Given the description of an element on the screen output the (x, y) to click on. 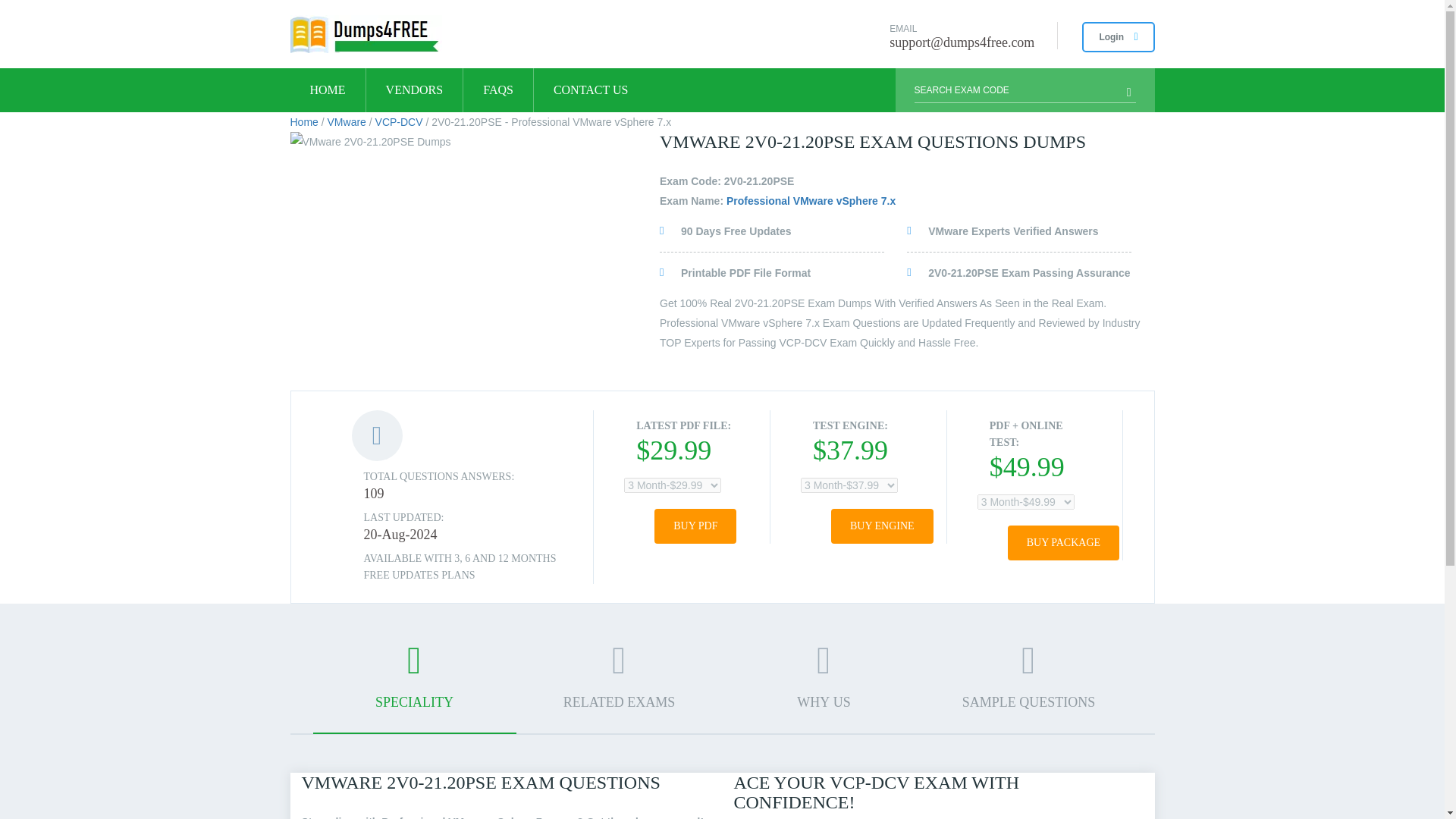
SPECIALITY (414, 687)
CONTACT US (590, 89)
Buy PACKAGE (1063, 542)
VENDORS (414, 89)
Buy ENGINE (882, 525)
Professional VMware vSphere 7.x (810, 200)
VMware (346, 121)
Buy PDF (694, 525)
Home (303, 121)
WHY US (823, 686)
